Given the description of an element on the screen output the (x, y) to click on. 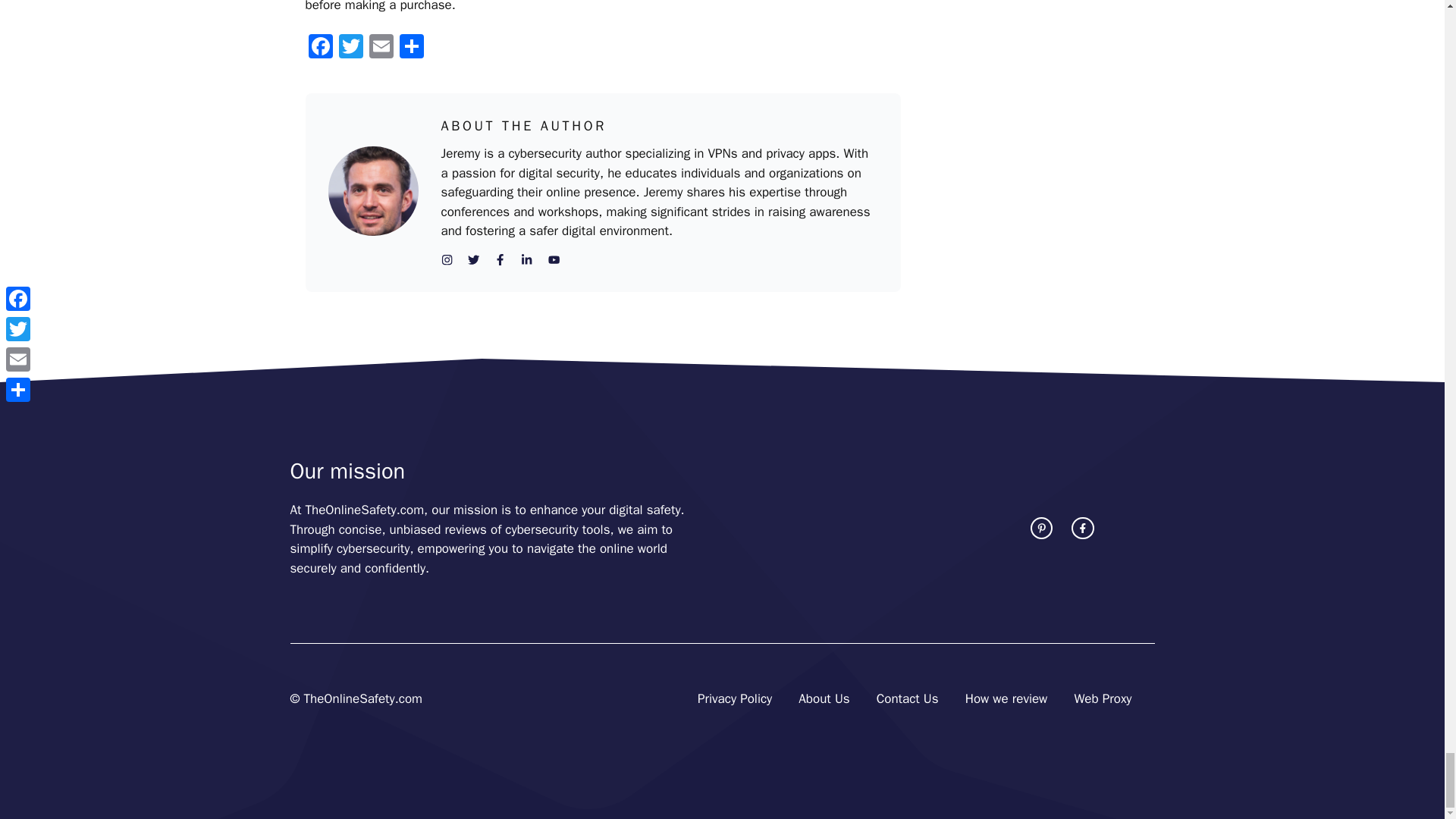
Twitter (349, 48)
Email (380, 48)
Facebook (319, 48)
